Given the description of an element on the screen output the (x, y) to click on. 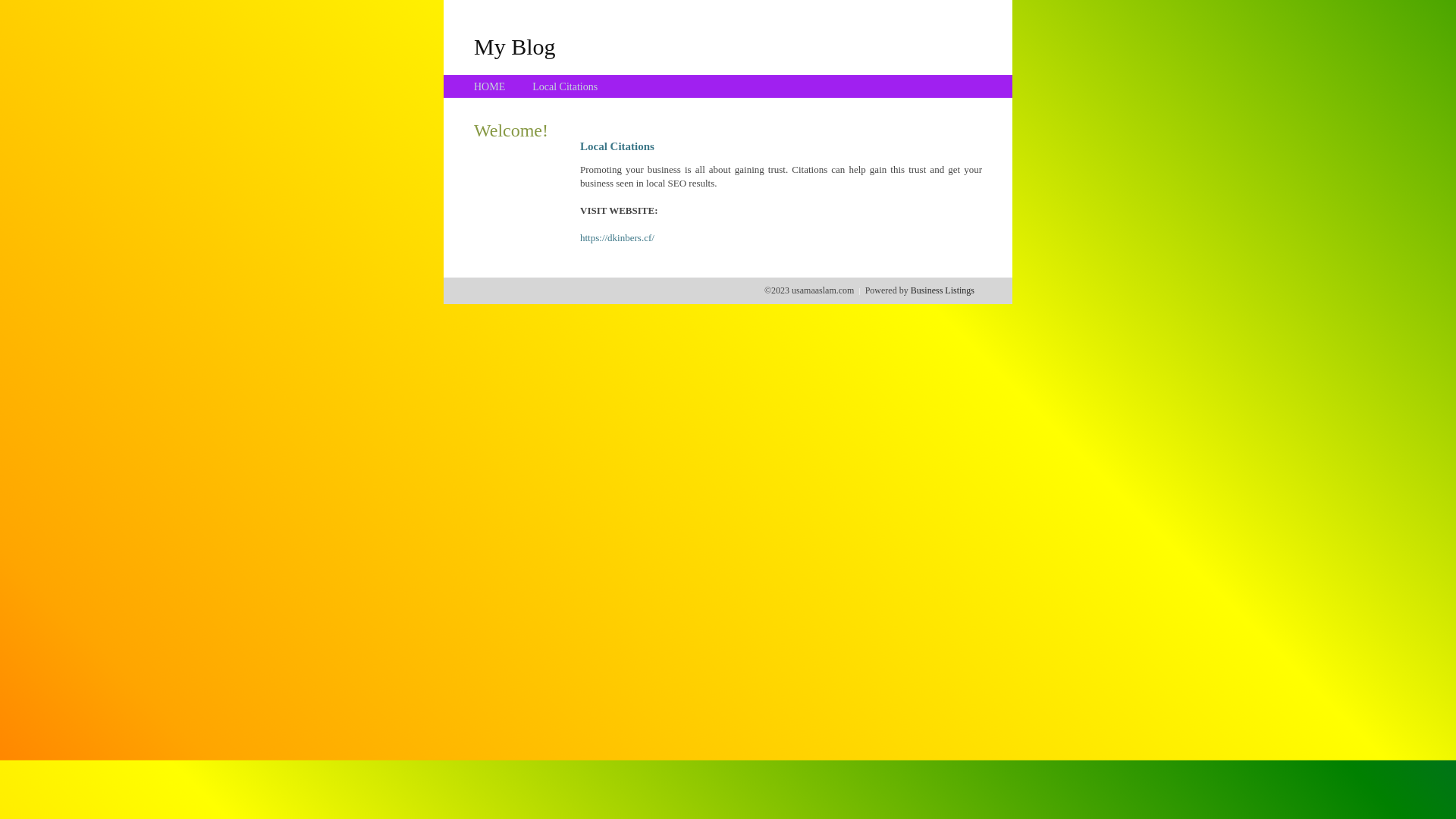
HOME Element type: text (489, 86)
Business Listings Element type: text (942, 290)
https://dkinbers.cf/ Element type: text (617, 237)
Local Citations Element type: text (564, 86)
My Blog Element type: text (514, 46)
